Given the description of an element on the screen output the (x, y) to click on. 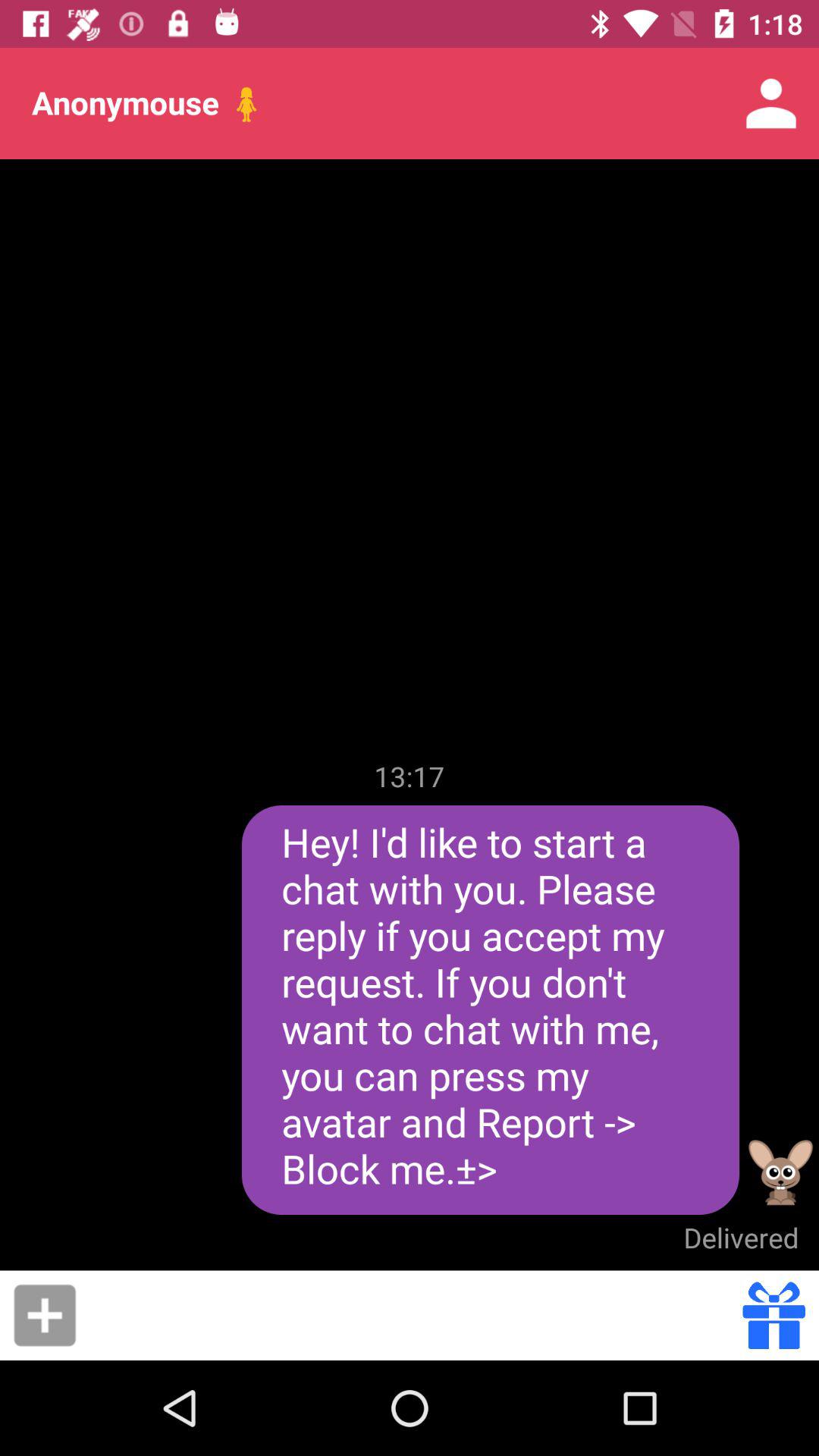
launch 13:17 (409, 776)
